Given the description of an element on the screen output the (x, y) to click on. 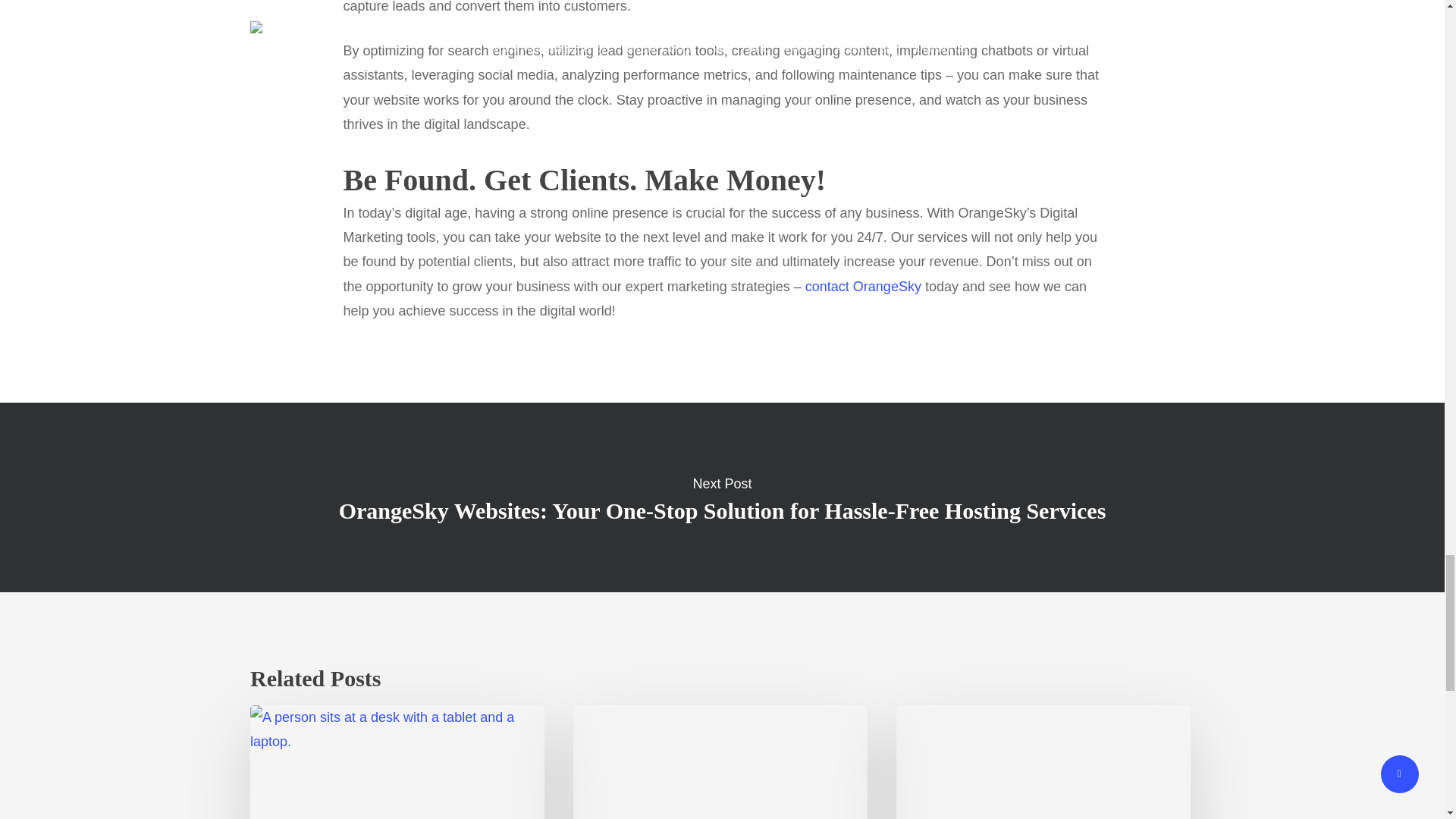
Mastering Website Design: Essential Tips for Success (720, 762)
contact OrangeSky (863, 286)
5 Ways To Maximize Your Website Design (1043, 762)
